Given the description of an element on the screen output the (x, y) to click on. 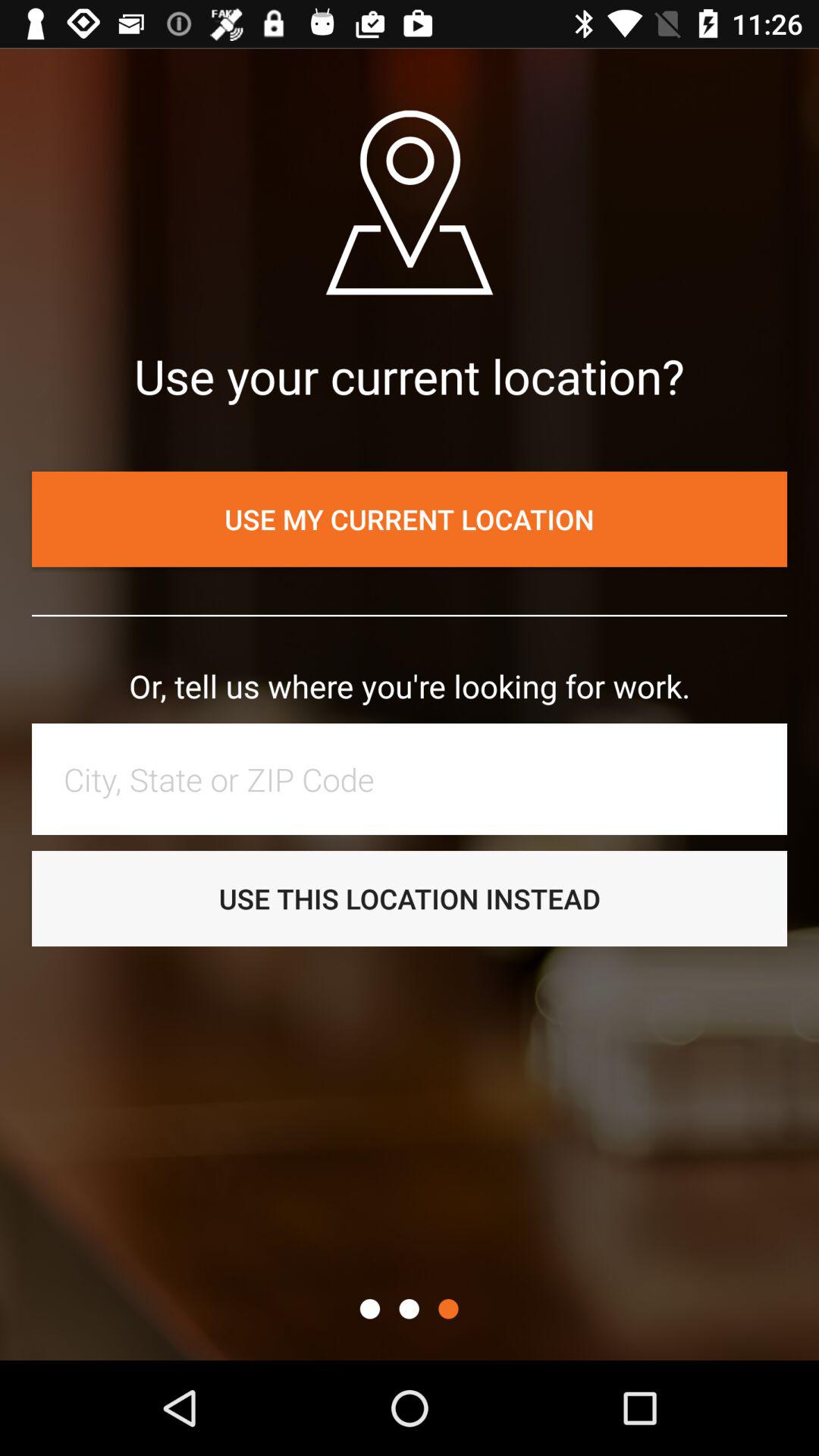
go to previous screen (409, 1308)
